Given the description of an element on the screen output the (x, y) to click on. 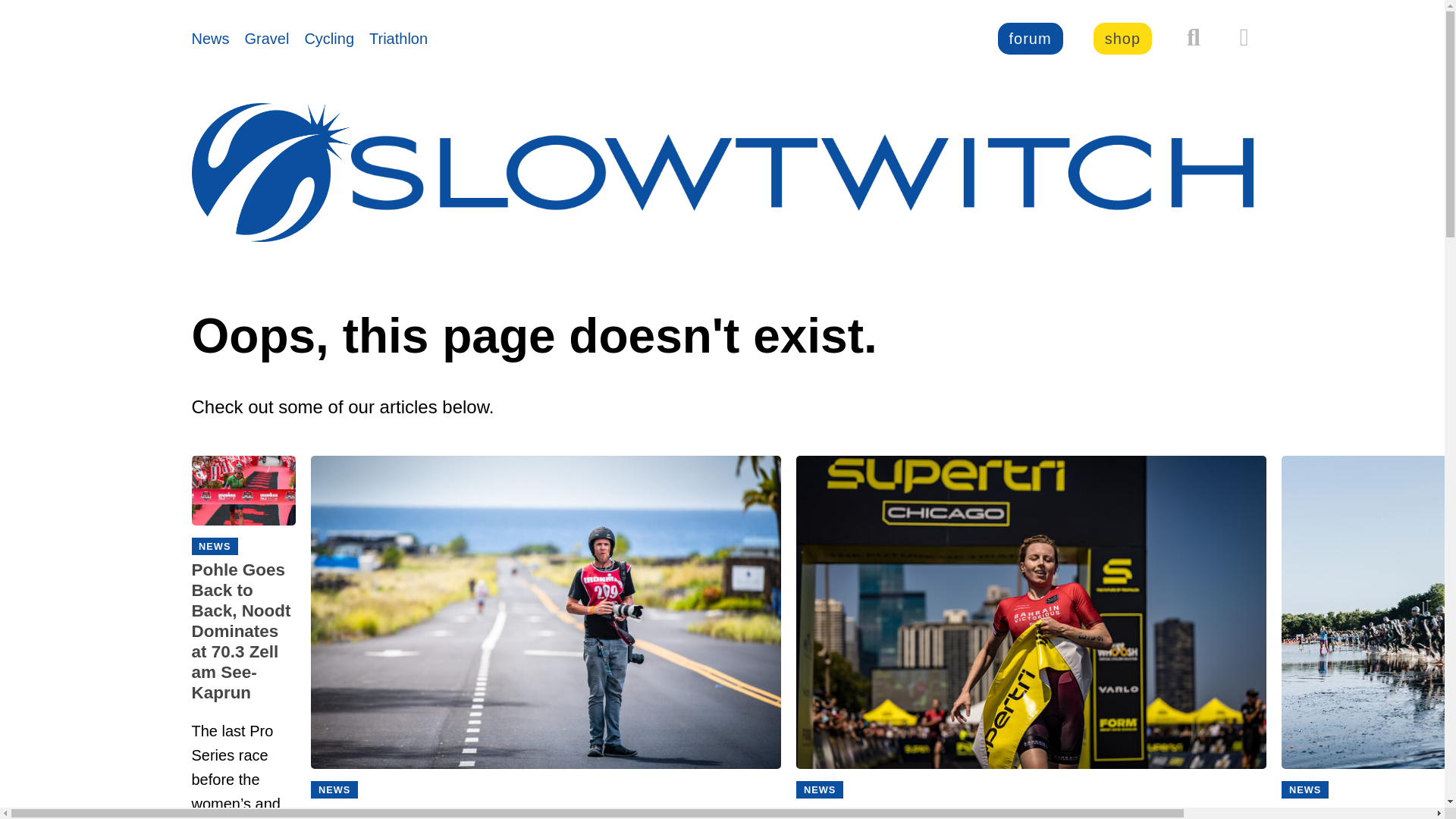
shop (1122, 38)
NEWS (1304, 789)
Taylor-Brown, Wilde Win SuperTri Chicago (1031, 811)
forum (1029, 38)
Triathlon (398, 38)
NEWS (819, 789)
Head Down, Eyes to the Future (545, 811)
NEWS (334, 789)
News (209, 38)
Cycling (328, 38)
